Given the description of an element on the screen output the (x, y) to click on. 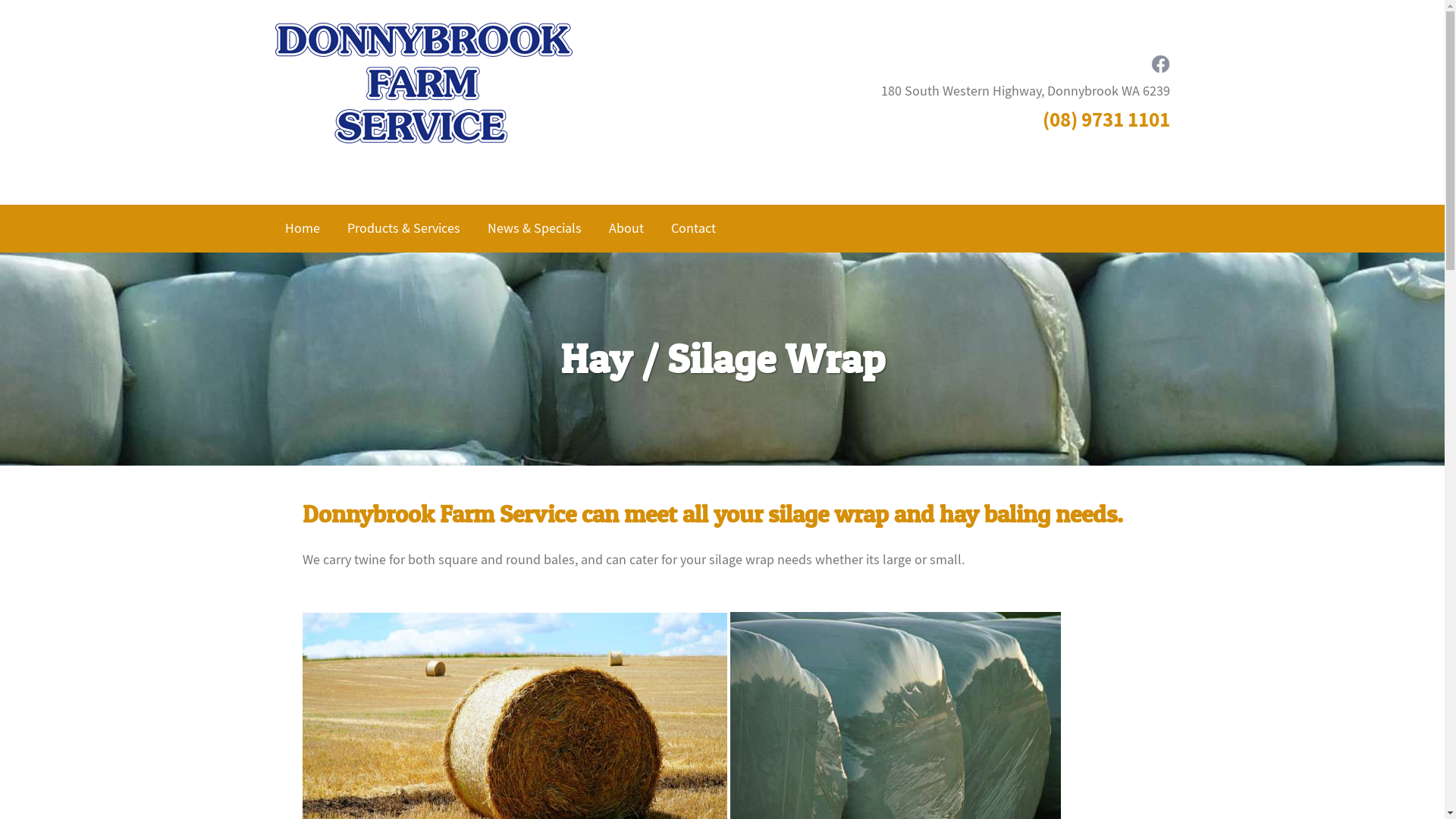
(08) 9731 1101 Element type: text (1105, 118)
Home Element type: text (301, 228)
Products & Services Element type: text (403, 228)
News & Specials Element type: text (534, 228)
About Element type: text (626, 228)
Contact Element type: text (693, 228)
